Given the description of an element on the screen output the (x, y) to click on. 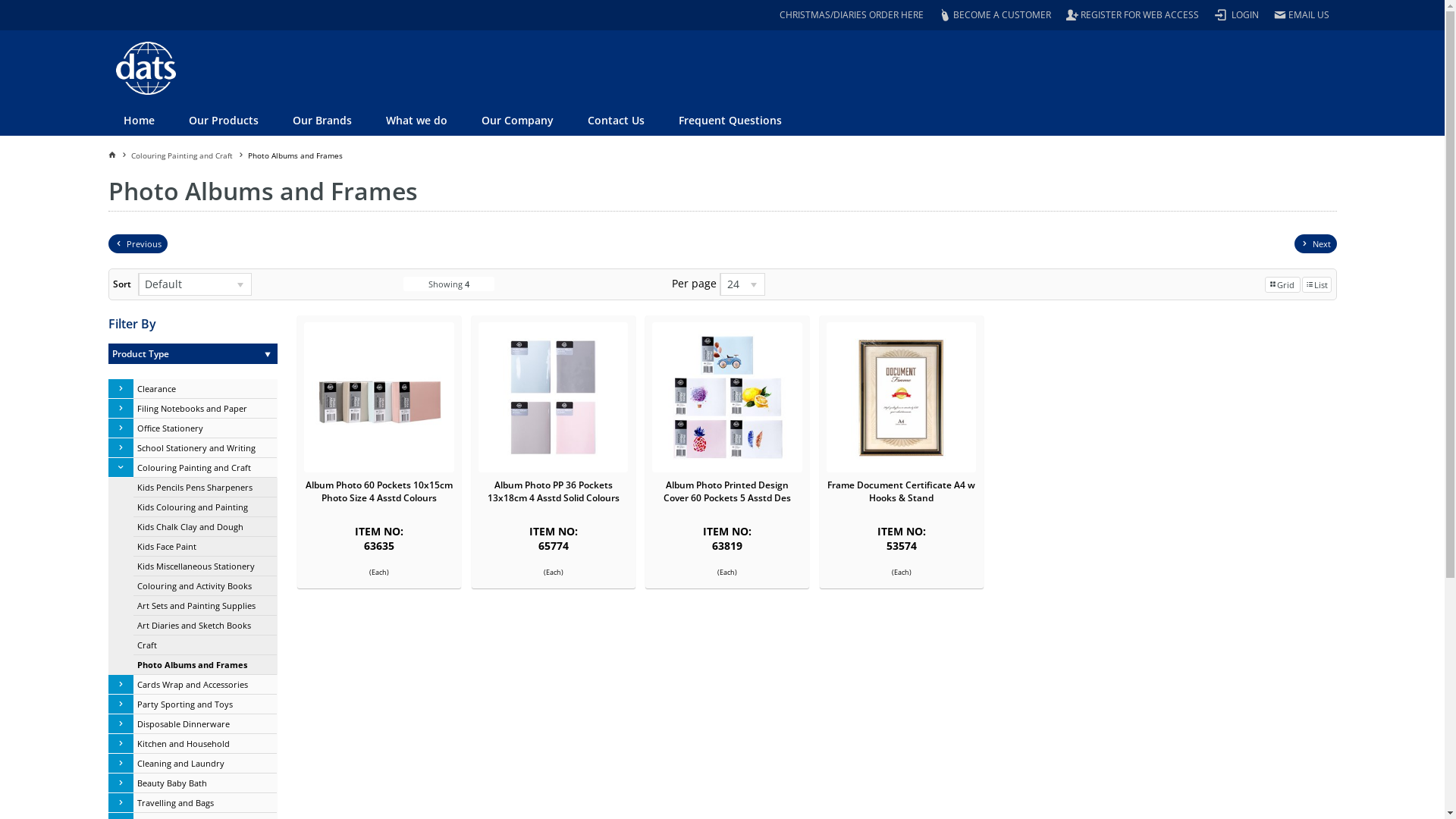
Disposable Dinnerware Element type: text (205, 724)
Cleaning and Laundry Element type: text (205, 763)
Art Sets and Painting Supplies Element type: text (205, 605)
Beauty Baby Bath Element type: text (205, 783)
Craft Element type: text (205, 645)
Colouring Painting and Craft Element type: text (188, 155)
Kids Face Paint Element type: text (205, 546)
Album Photo 60 Pockets 10x15cm Photo Size 4 Asstd Colours Element type: text (378, 491)
Filing Notebooks and Paper Element type: text (205, 408)
Kids Miscellaneous Stationery Element type: text (205, 566)
School Stationery and Writing Element type: text (205, 448)
Kids Pencils Pens Sharpeners Element type: text (205, 487)
LOGIN Element type: text (1235, 15)
Party Sporting and Toys Element type: text (205, 704)
Our Brands Element type: text (323, 120)
Previous Element type: text (136, 243)
What we do Element type: text (418, 120)
Kitchen and Household Element type: text (205, 743)
CHRISTMAS/DIARIES ORDER HERE Element type: text (851, 15)
REGISTER FOR WEB ACCESS Element type: text (1132, 15)
Art Diaries and Sketch Books Element type: text (205, 625)
Frame Document Certificate A4 w Hooks & Stand Element type: text (901, 491)
Travelling and Bags Element type: text (205, 802)
Home Element type: text (138, 120)
Office Stationery Element type: text (205, 428)
Next Element type: text (1314, 243)
EMAIL US Element type: text (1301, 15)
Album Photo 60 Pockets 10x15cm Photo Size 4 Asstd Colours Element type: hover (378, 396)
Cards Wrap and Accessories Element type: text (205, 684)
Photo Albums and Frames Element type: text (205, 664)
Clearance Element type: text (205, 388)
Kids Colouring and Painting Element type: text (205, 507)
Frequent Questions Element type: text (732, 120)
Our Products Element type: text (225, 120)
Album Photo PP 36 Pockets 13x18cm 4 Asstd Solid Colours Element type: hover (552, 396)
Colouring and Activity Books Element type: text (205, 586)
Album Photo Printed Design Cover 60 Pockets 5 Asstd Des Element type: text (726, 491)
Frame Document Certificate A4 w Hooks & Stand Element type: hover (900, 396)
Kids Chalk Clay and Dough Element type: text (205, 526)
Contact Us Element type: text (617, 120)
BECOME A CUSTOMER Element type: text (994, 15)
Colouring Painting and Craft Element type: text (205, 467)
Album Photo PP 36 Pockets 13x18cm 4 Asstd Solid Colours Element type: text (553, 491)
Our Company Element type: text (519, 120)
Album Photo Printed Design Cover 60 Pockets 5 Asstd Des Element type: hover (726, 396)
